Given the description of an element on the screen output the (x, y) to click on. 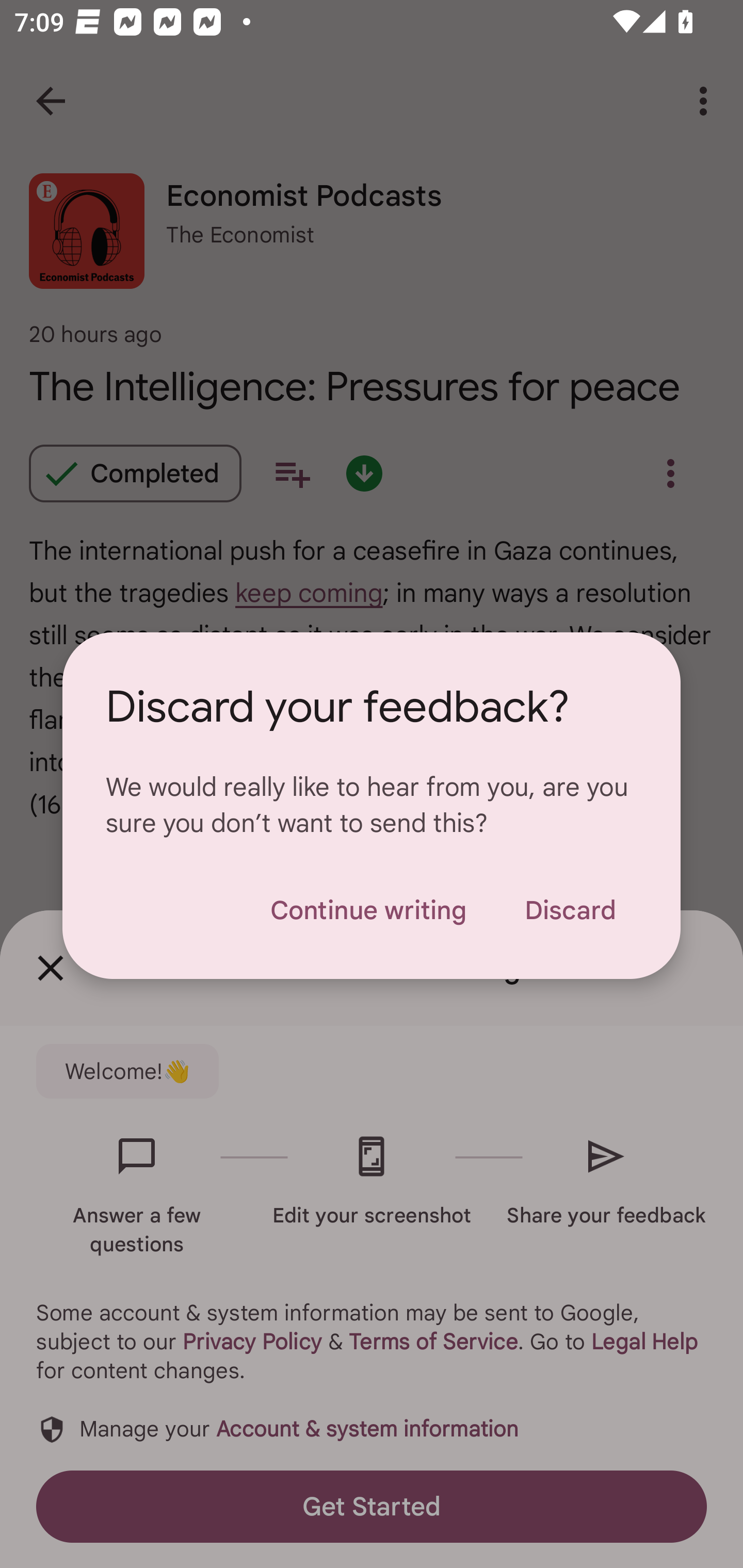
Continue writing (368, 910)
Discard (569, 910)
